Given the description of an element on the screen output the (x, y) to click on. 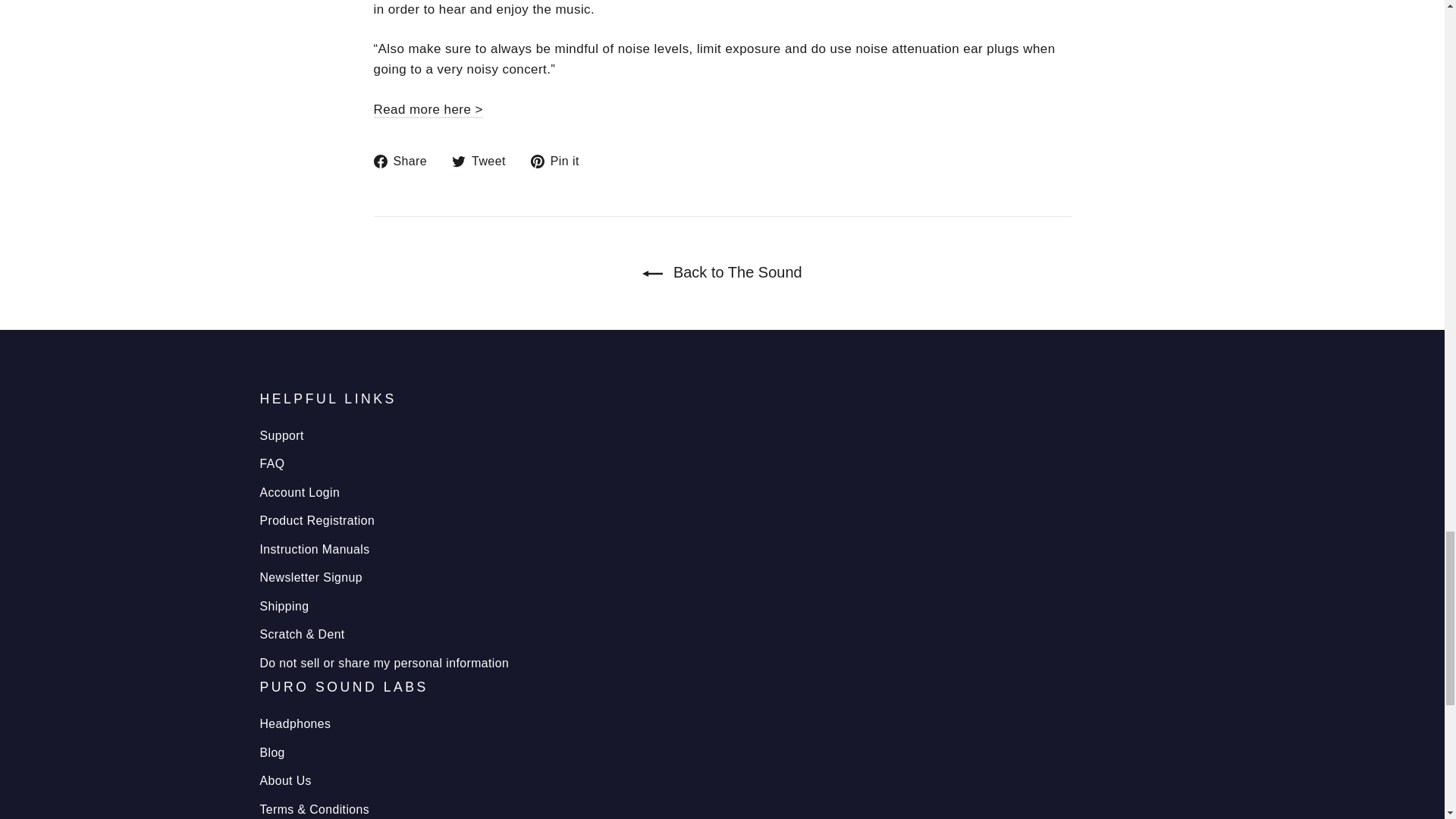
Share on Facebook (405, 160)
Tweet on Twitter (483, 160)
Pin on Pinterest (561, 160)
